Given the description of an element on the screen output the (x, y) to click on. 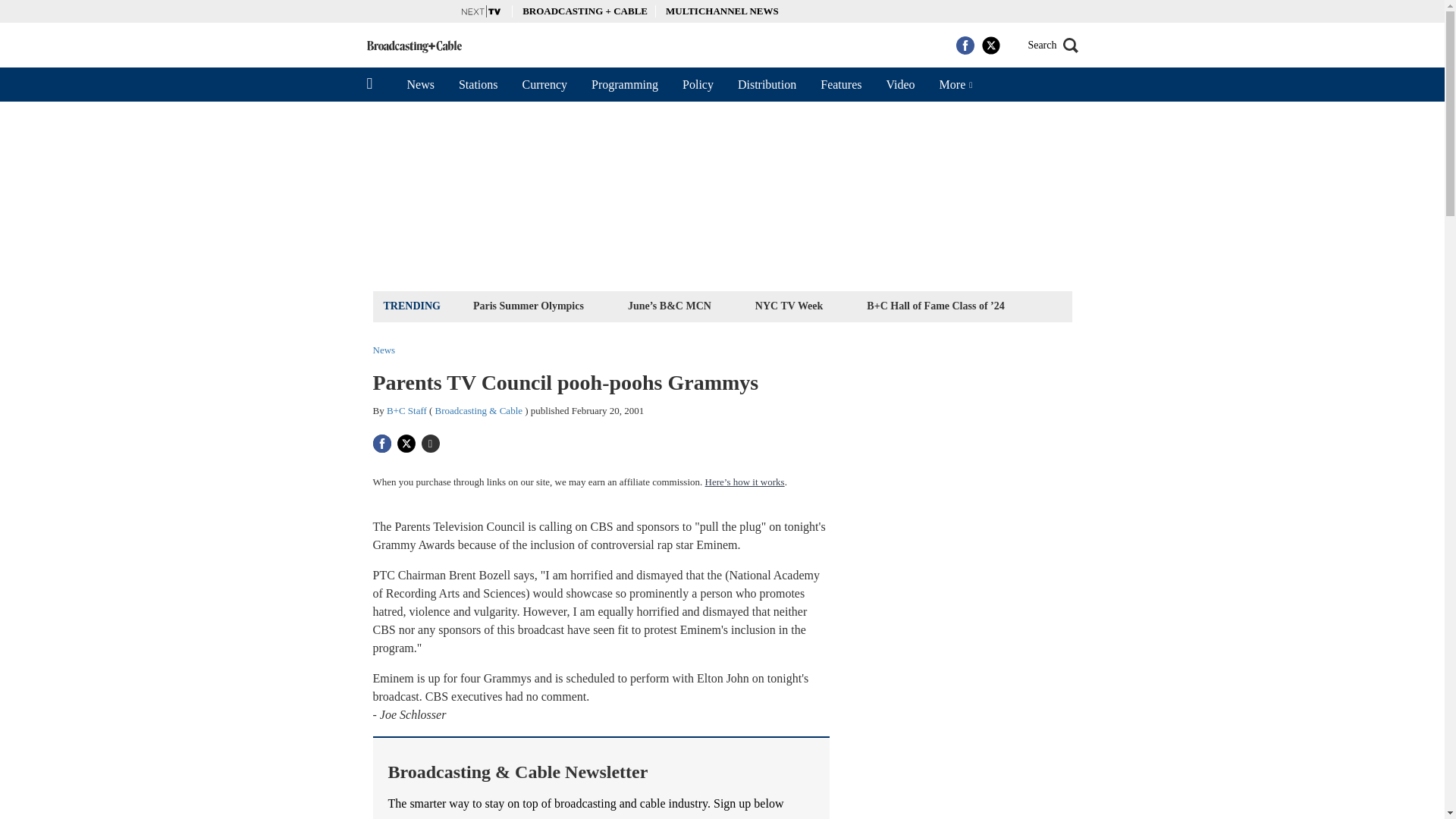
Features (840, 84)
News (419, 84)
Currency (544, 84)
Paris Summer Olympics (528, 305)
Policy (697, 84)
MULTICHANNEL NEWS (721, 10)
Stations (478, 84)
Distribution (766, 84)
Programming (624, 84)
Video (899, 84)
NYC TV Week (788, 305)
